Given the description of an element on the screen output the (x, y) to click on. 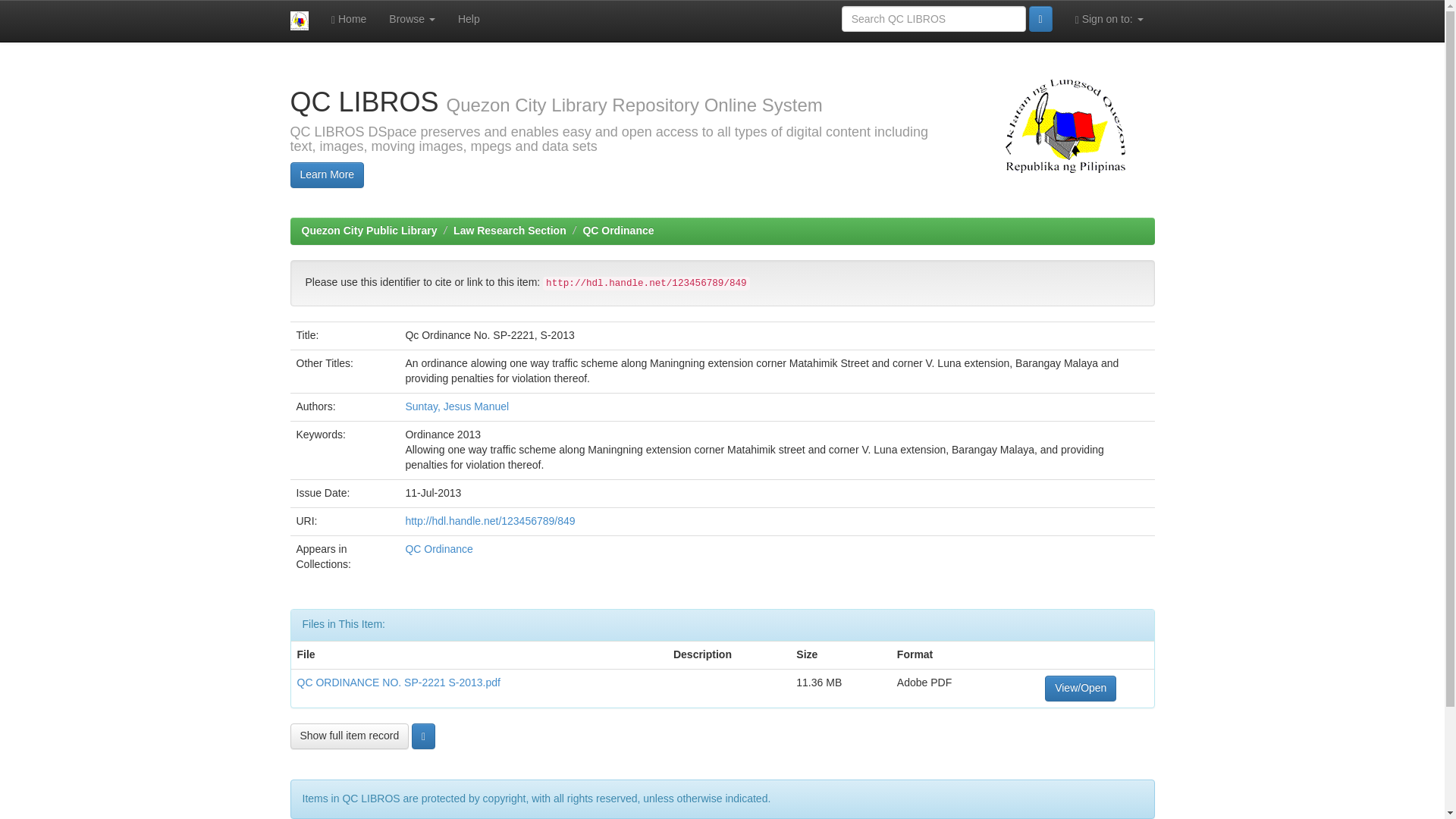
Quezon City Public Library (369, 230)
QC ORDINANCE NO. SP-2221 S-2013.pdf (398, 682)
QC Ordinance (617, 230)
Show full item record (349, 736)
Learn More (326, 175)
Law Research Section (509, 230)
Learn More (326, 174)
Help (469, 18)
Home (348, 18)
Suntay, Jesus Manuel (456, 406)
QC Ordinance (437, 548)
Browse (411, 18)
Sign on to: (1109, 18)
